Given the description of an element on the screen output the (x, y) to click on. 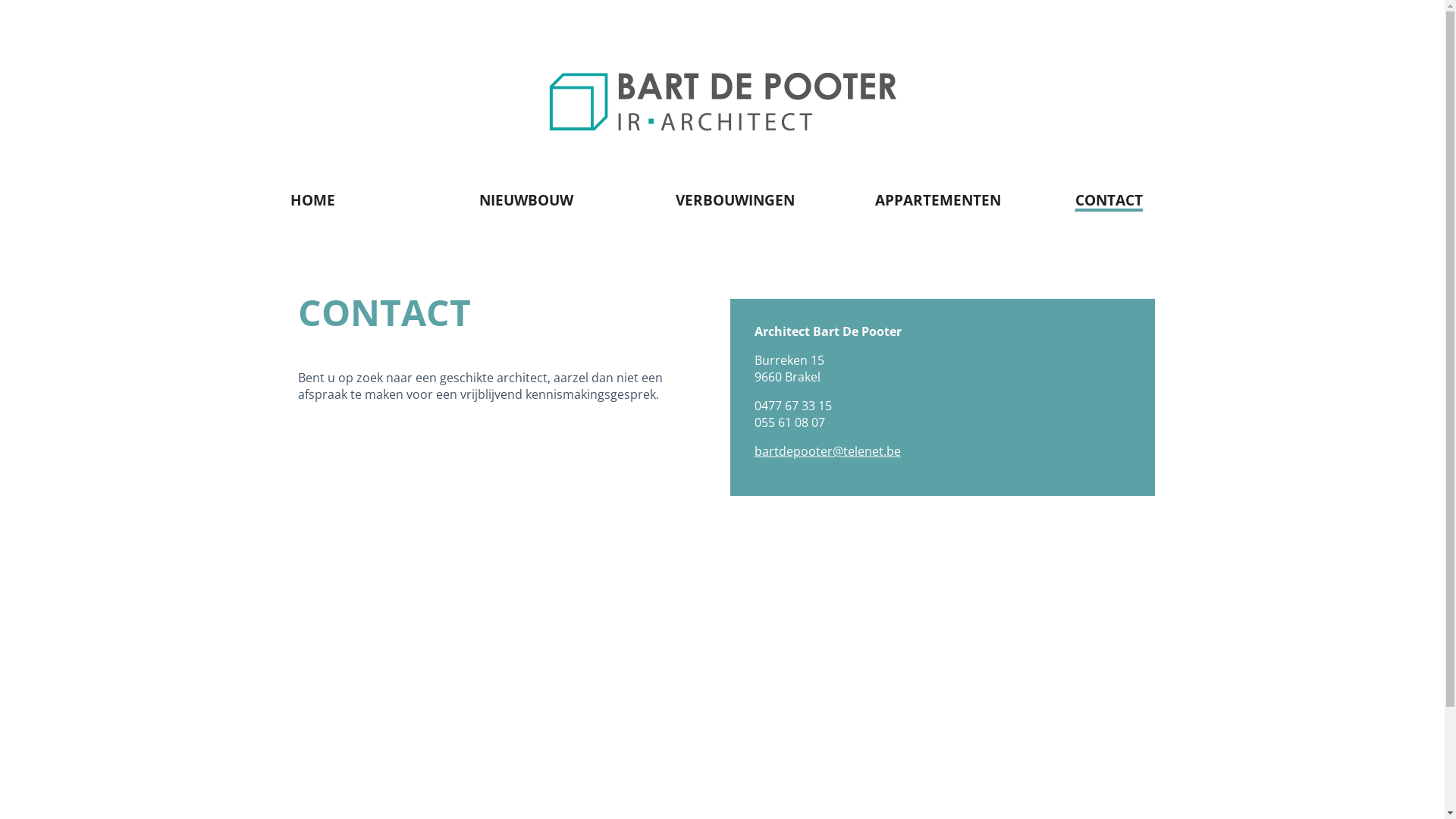
APPARTEMENTEN Element type: text (937, 199)
VERBOUWINGEN Element type: text (734, 199)
Terug naar het begin Element type: hover (1414, 788)
HOME Element type: text (311, 199)
NIEUWBOUW Element type: text (525, 199)
bartdepooter@telenet.be Element type: text (826, 450)
CONTACT Element type: text (1108, 201)
